Given the description of an element on the screen output the (x, y) to click on. 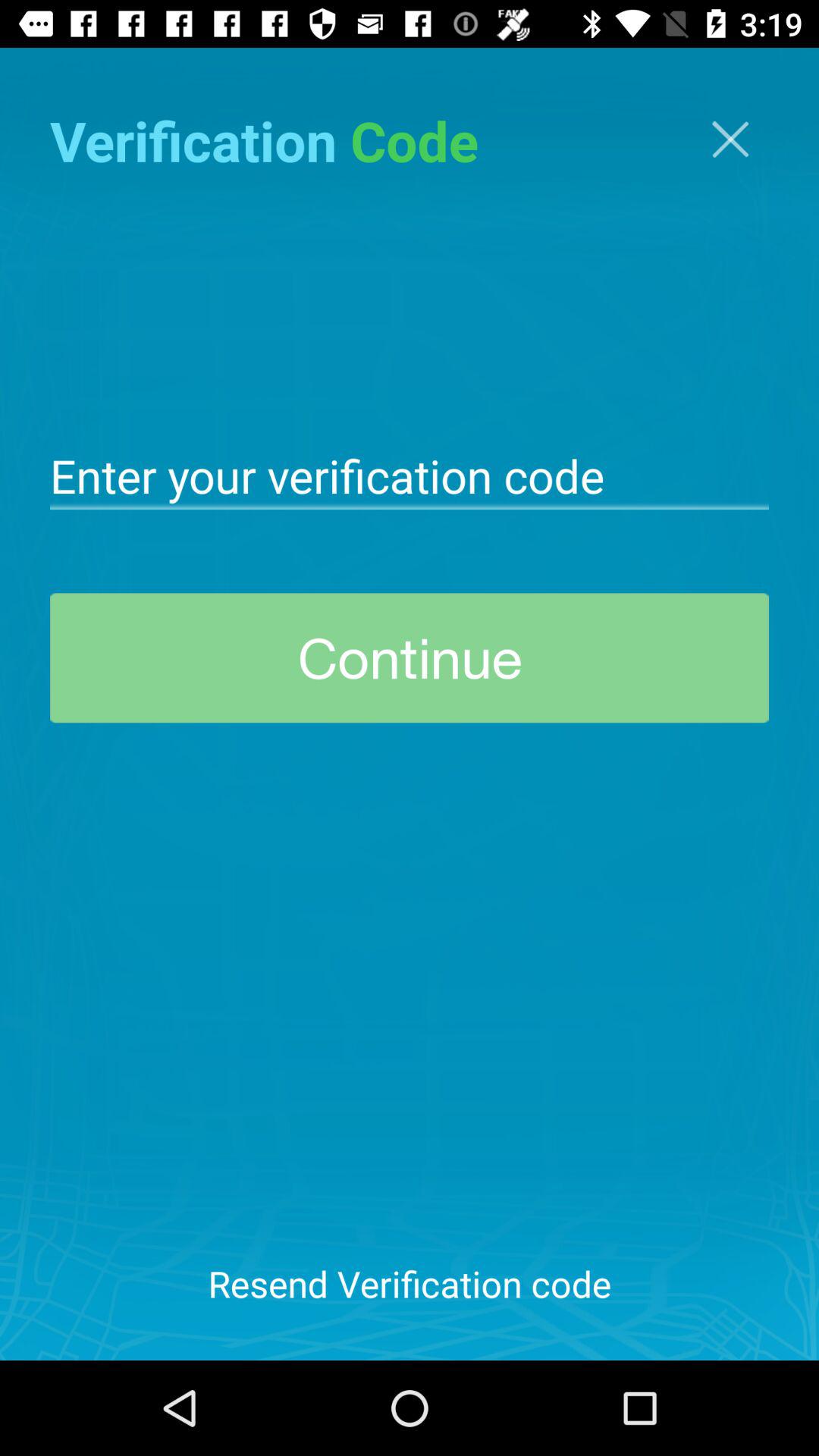
close out (730, 139)
